Given the description of an element on the screen output the (x, y) to click on. 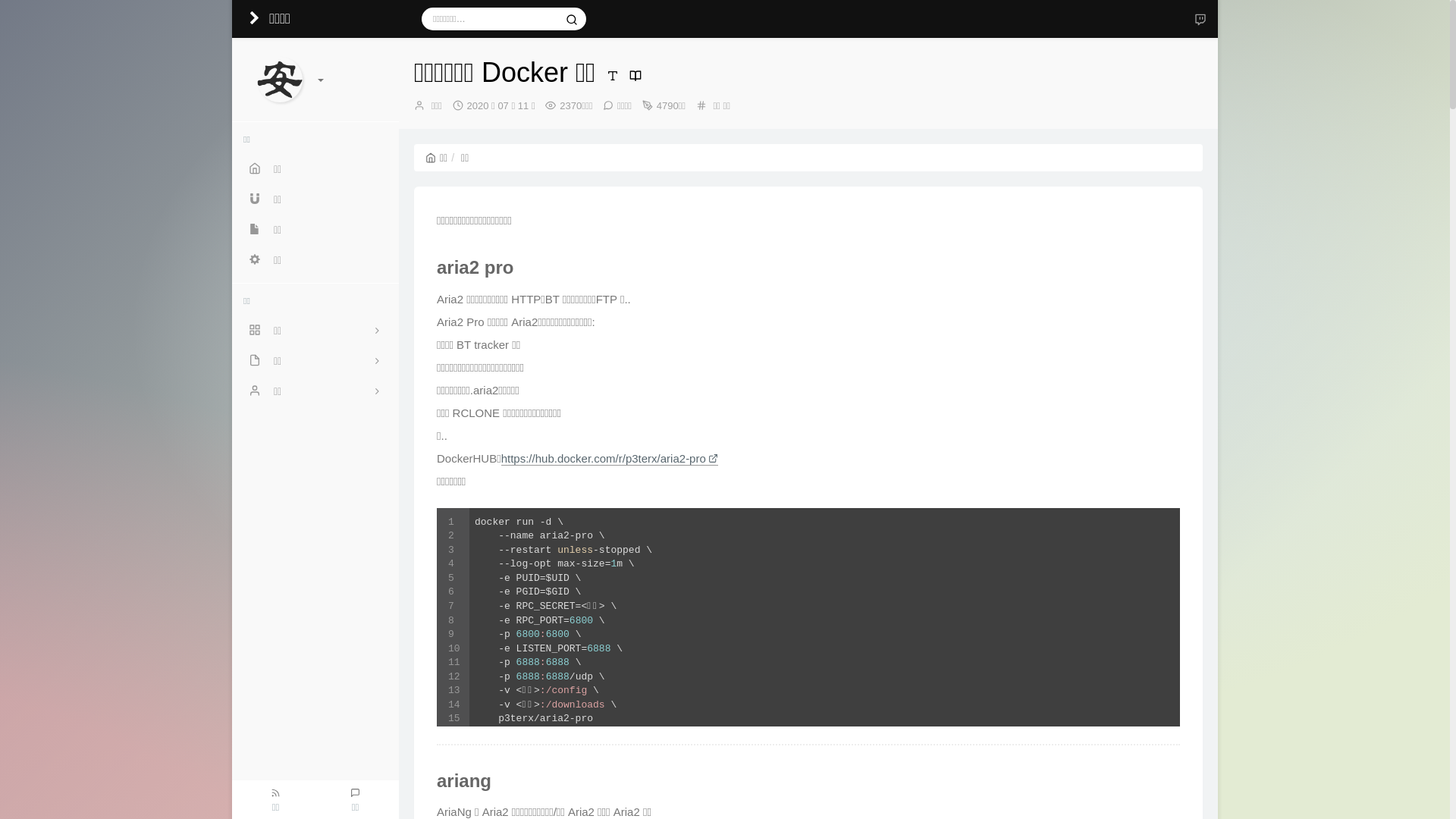
https://hub.docker.com/r/p3terx/aria2-pro Element type: text (609, 458)
